Given the description of an element on the screen output the (x, y) to click on. 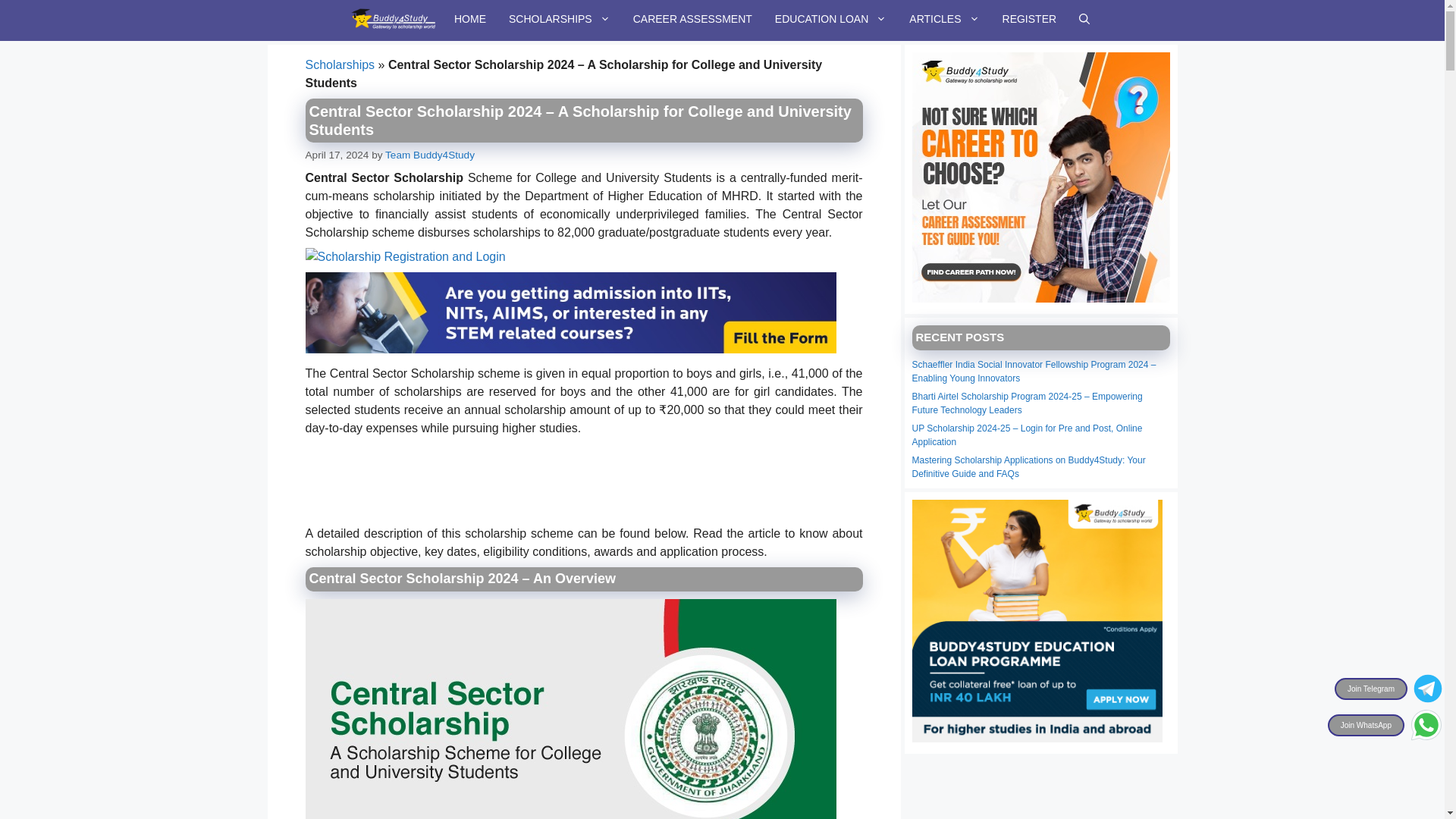
View all posts by Team Buddy4Study (429, 154)
